Given the description of an element on the screen output the (x, y) to click on. 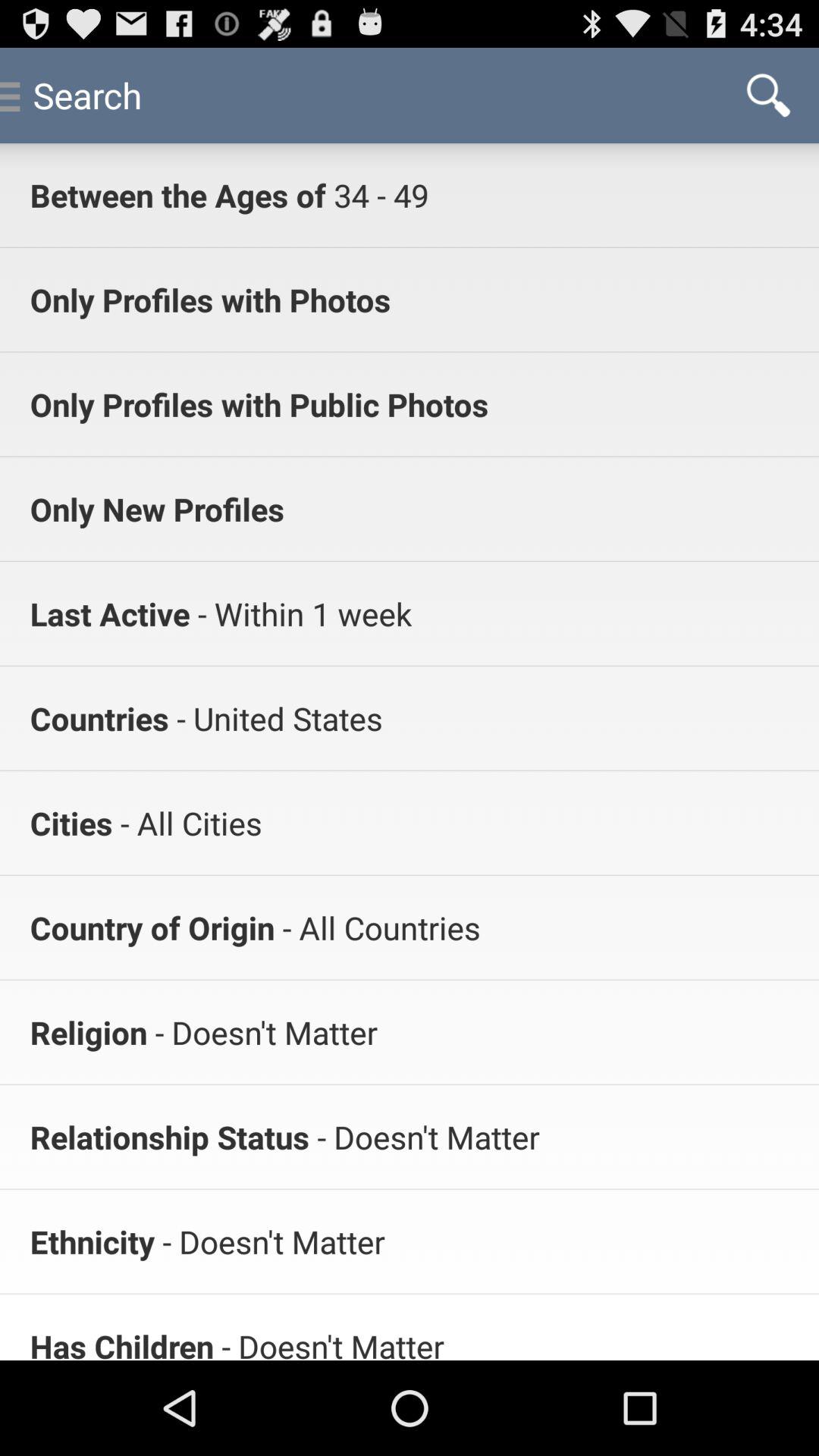
tap last active item (109, 613)
